Given the description of an element on the screen output the (x, y) to click on. 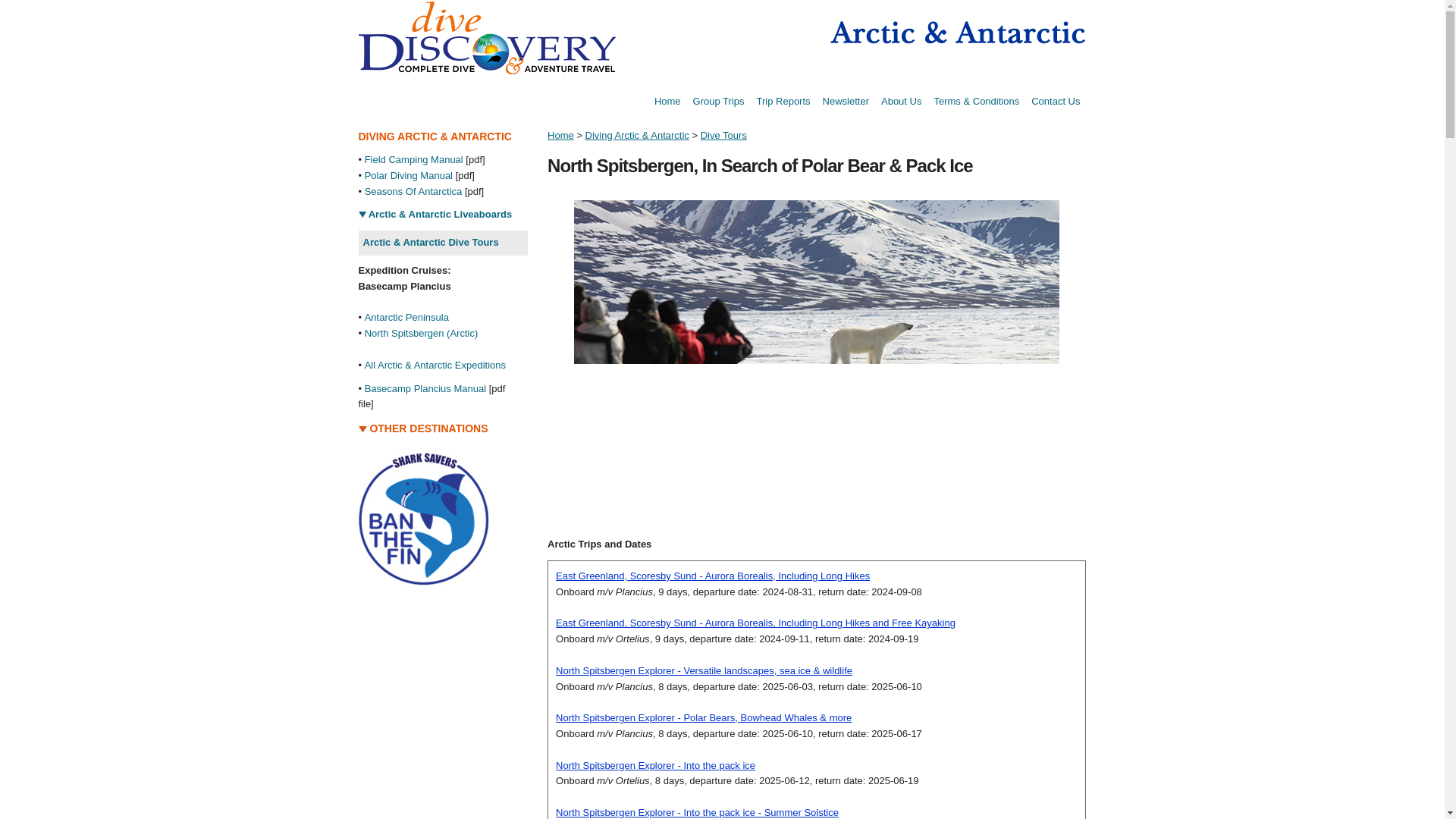
About Us (901, 101)
Home (667, 101)
Antarctic Peninsula (406, 317)
Trip Reports (783, 101)
Polar Diving Manual (408, 174)
Field Camping Manual (414, 159)
All Arctic and Antarctic Expeditions (435, 365)
Seasons Of Antarctica (414, 191)
Basecamp Plancius Manual (425, 388)
Contact Us (1055, 101)
